Given the description of an element on the screen output the (x, y) to click on. 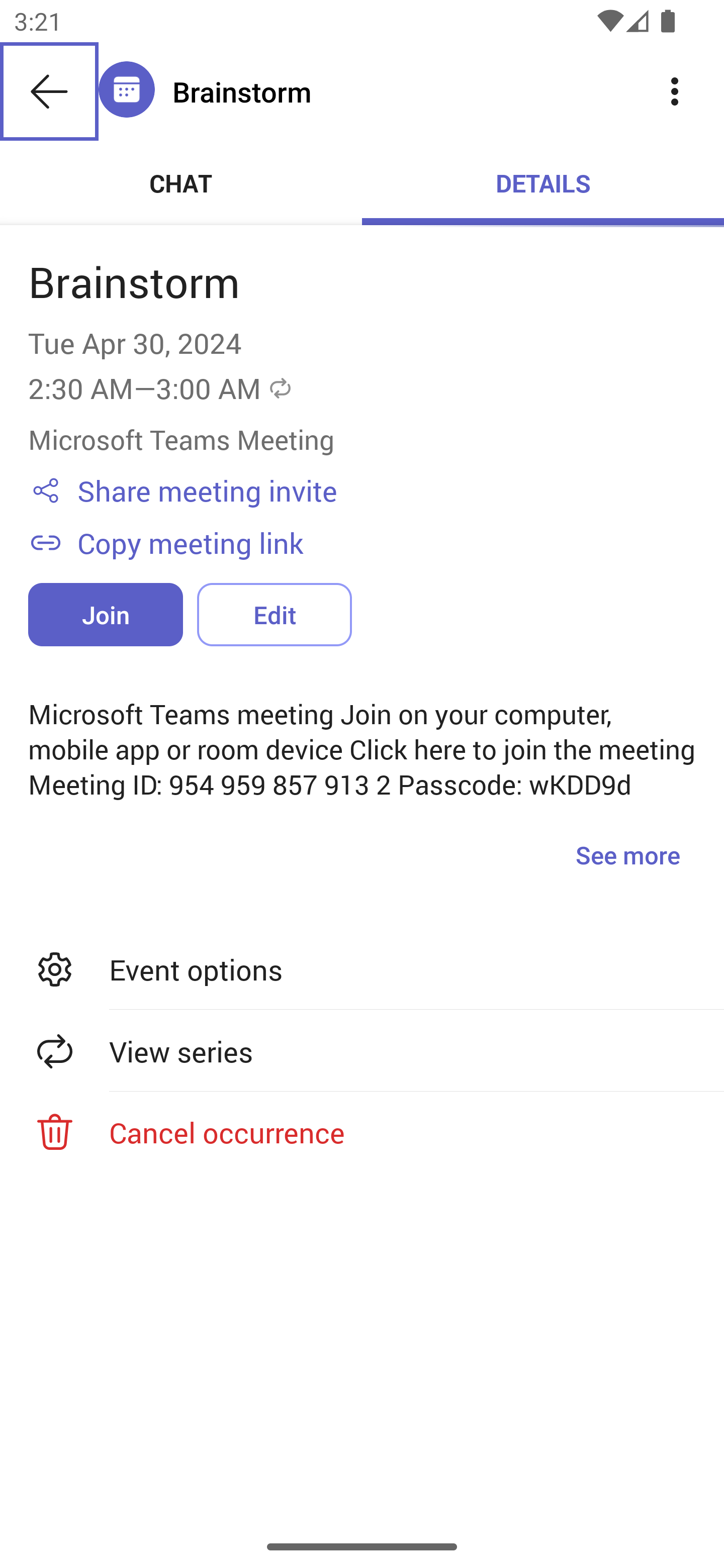
Back (49, 91)
More options (674, 90)
Brainstorm (398, 91)
Chat CHAT (181, 183)
Share meeting invite Share meeting invite link. (386, 490)
Copy meeting link (386, 542)
Join (105, 614)
Edit (273, 614)
See more See more detailed description (626, 854)
Event options (362, 968)
View series (362, 1051)
Cancel occurrence button Cancel occurrence (362, 1131)
